Given the description of an element on the screen output the (x, y) to click on. 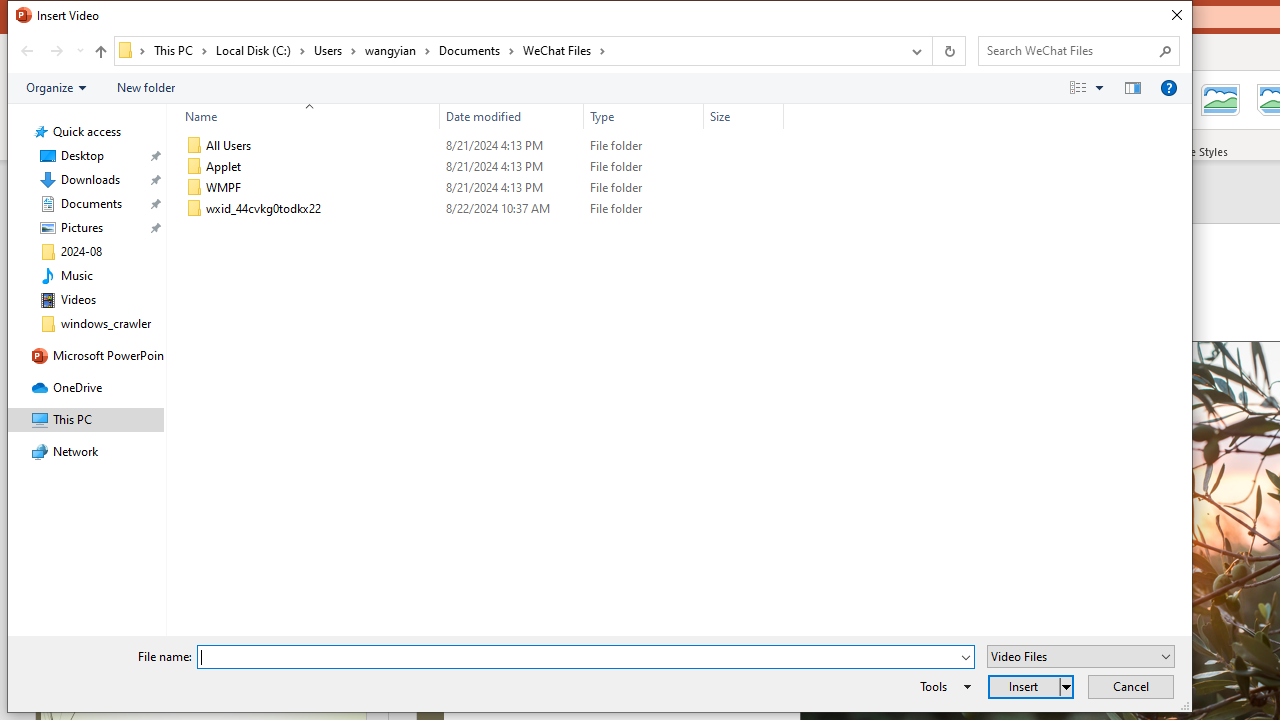
This PC (180, 50)
Local Disk (C:) (260, 50)
Filter dropdown (775, 115)
New folder (145, 87)
Name (303, 115)
Cancel (1130, 686)
Recent locations (79, 51)
